Given the description of an element on the screen output the (x, y) to click on. 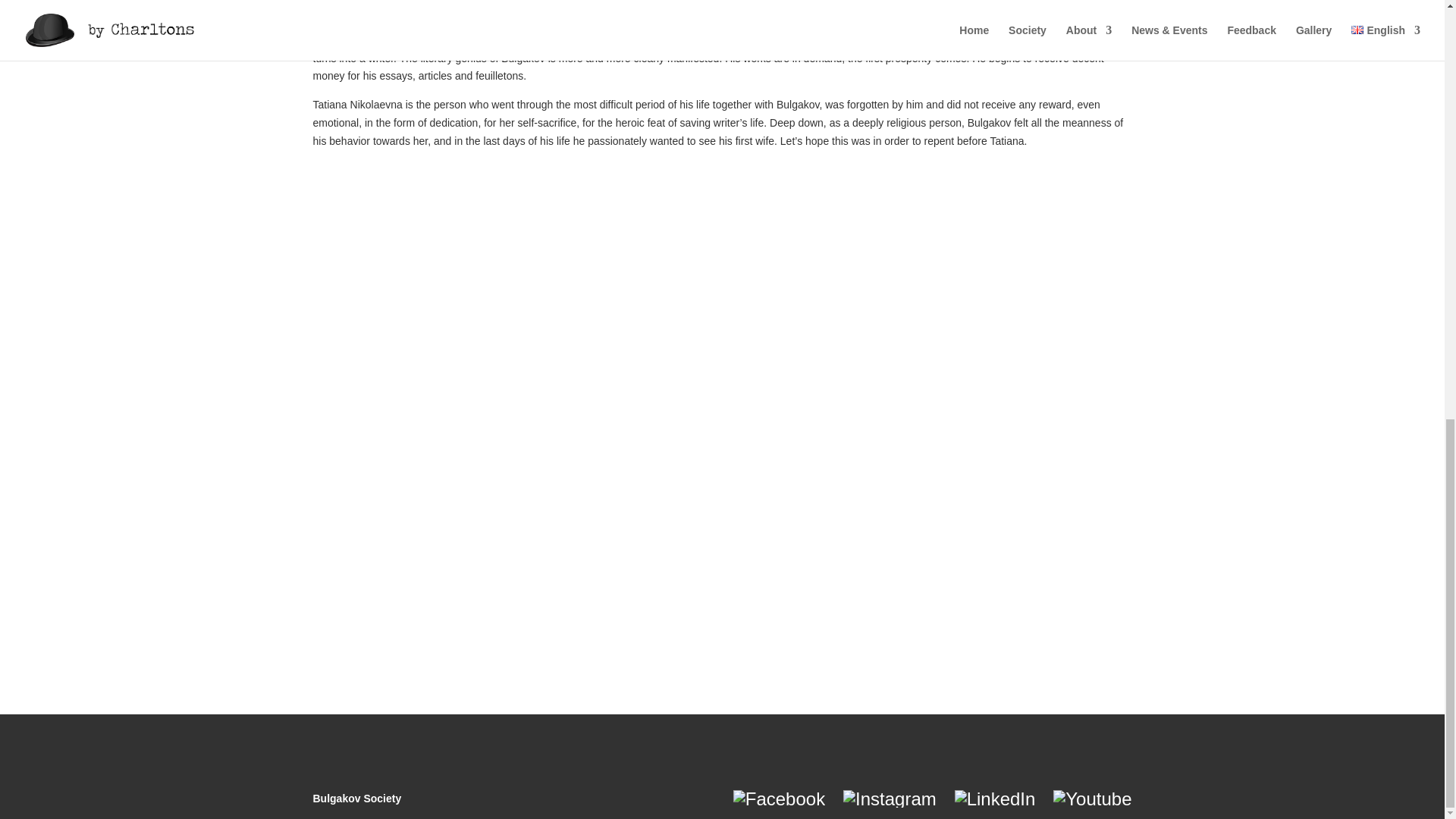
Bulgakov Society (357, 798)
